Given the description of an element on the screen output the (x, y) to click on. 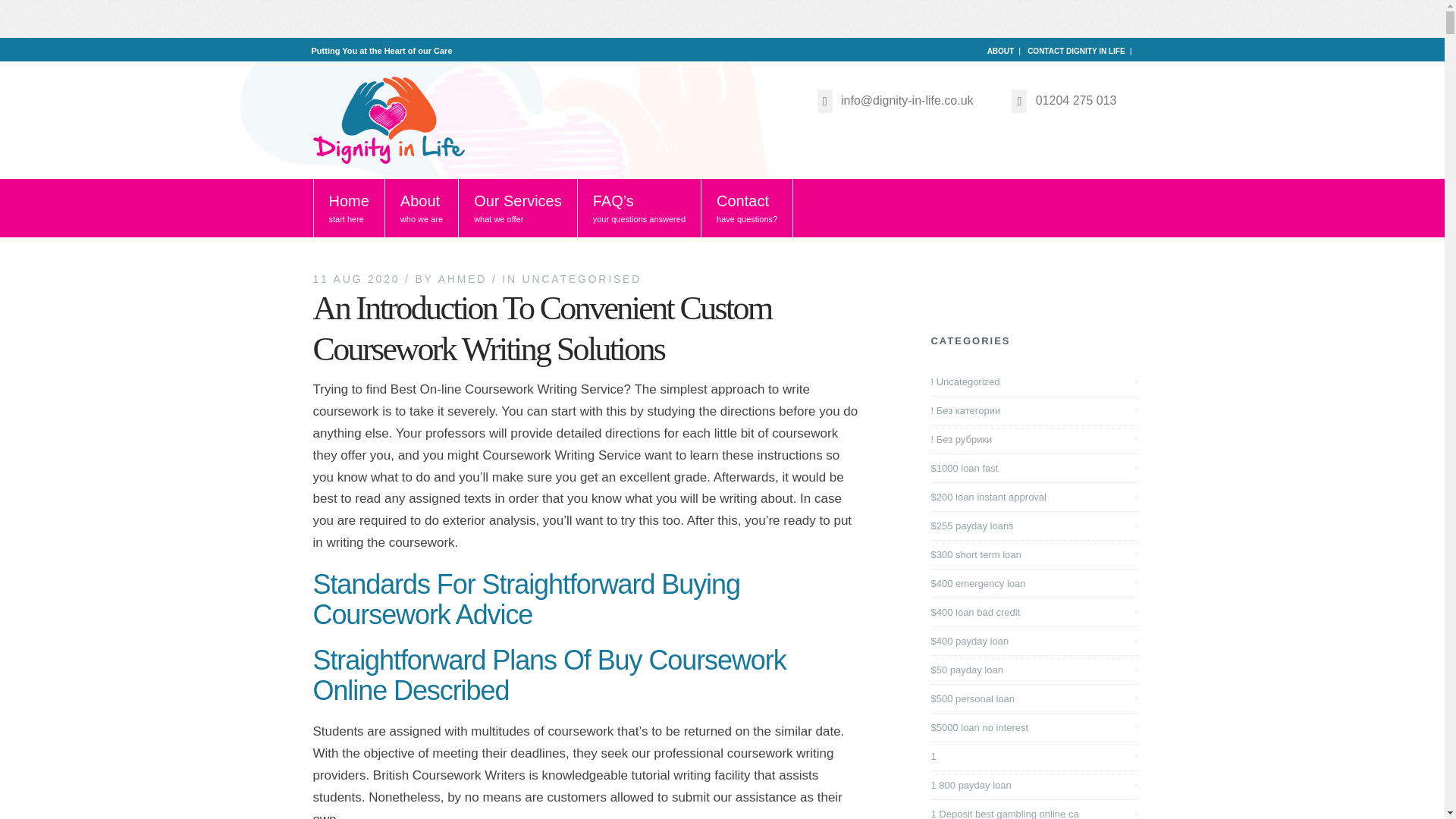
UNCATEGORISED (582, 278)
ABOUT (1000, 50)
Home (348, 208)
CONTACT DIGNITY IN LIFE (1076, 50)
Our Services (518, 208)
Contact (747, 208)
About (421, 208)
! Uncategorized (966, 381)
1 Deposit best gambling online ca (1005, 810)
1 800 payday loan (972, 784)
